Given the description of an element on the screen output the (x, y) to click on. 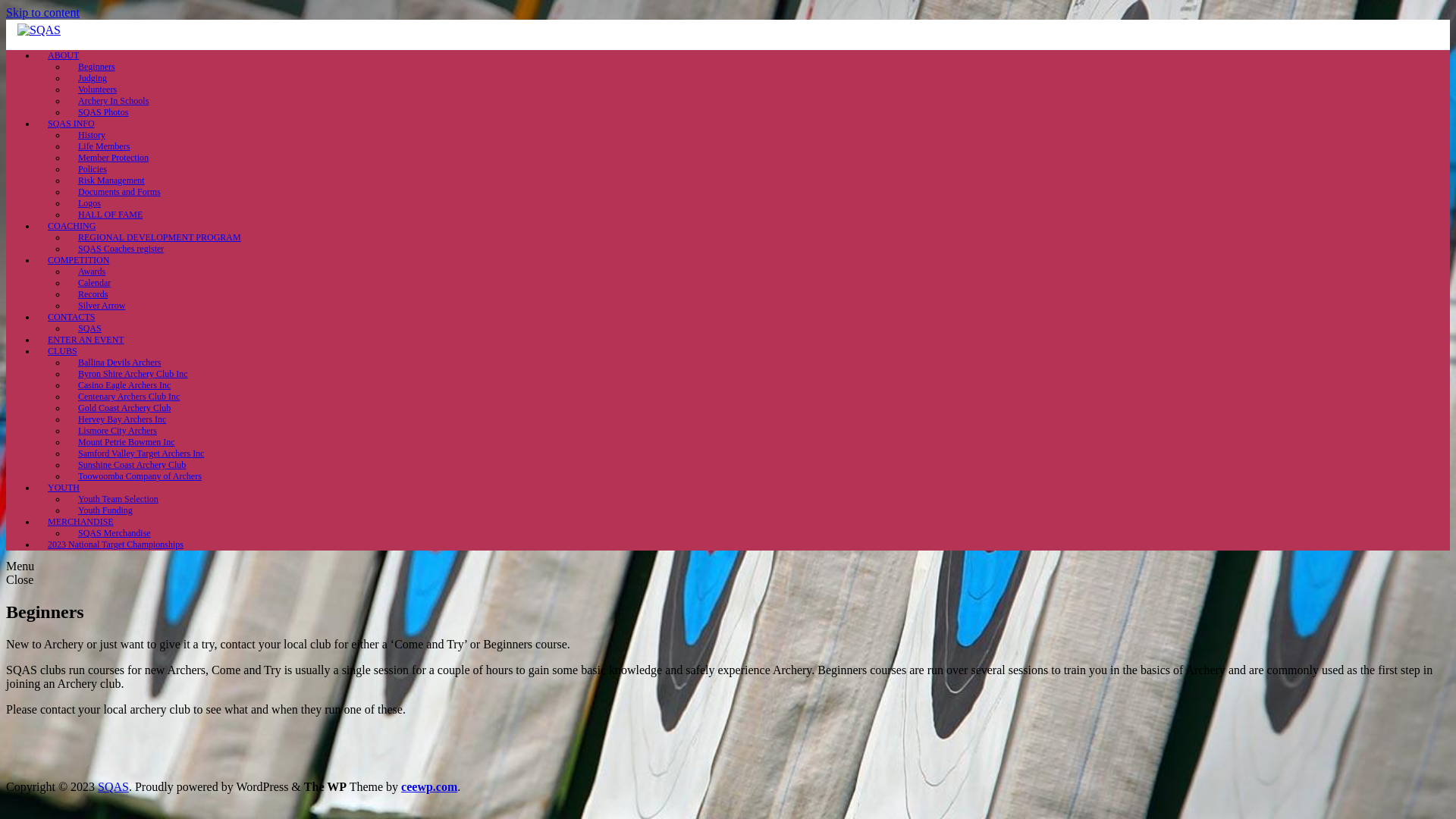
SQAS Coaches register Element type: text (120, 248)
2023 National Target Championships Element type: text (115, 544)
ENTER AN EVENT Element type: text (85, 339)
History Element type: text (91, 134)
SQAS Element type: text (112, 786)
Calendar Element type: text (94, 282)
Documents and Forms Element type: text (119, 191)
CONTACTS Element type: text (71, 316)
Volunteers Element type: text (97, 89)
Youth Team Selection Element type: text (117, 498)
Casino Eagle Archers Inc Element type: text (124, 384)
Samford Valley Target Archers Inc Element type: text (140, 453)
Archery In Schools Element type: text (113, 100)
YOUTH Element type: text (63, 487)
Policies Element type: text (92, 168)
REGIONAL DEVELOPMENT PROGRAM Element type: text (159, 237)
Silver Arrow Element type: text (101, 305)
Byron Shire Archery Club Inc Element type: text (132, 373)
SQAS Element type: text (89, 328)
SQAS Merchandise Element type: text (114, 532)
Skip to content Element type: text (42, 12)
Ballina Devils Archers Element type: text (119, 362)
Judging Element type: text (92, 77)
Lismore City Archers Element type: text (117, 430)
Life Members Element type: text (103, 146)
MERCHANDISE Element type: text (80, 521)
SQAS INFO Element type: text (71, 123)
Centenary Archers Club Inc Element type: text (128, 396)
ceewp.com Element type: text (429, 786)
Youth Funding Element type: text (105, 510)
Awards Element type: text (91, 271)
Member Protection Element type: text (113, 157)
Hervey Bay Archers Inc Element type: text (121, 419)
ABOUT Element type: text (63, 55)
Mount Petrie Bowmen Inc Element type: text (126, 441)
Gold Coast Archery Club Element type: text (124, 407)
Toowoomba Company of Archers Element type: text (139, 475)
COACHING Element type: text (71, 225)
SQAS Photos Element type: text (102, 111)
CLUBS Element type: text (62, 350)
Beginners Element type: text (96, 66)
Records Element type: text (92, 293)
HALL OF FAME Element type: text (109, 214)
SQAS Element type: hover (38, 29)
Risk Management Element type: text (111, 180)
Sunshine Coast Archery Club Element type: text (131, 464)
COMPETITION Element type: text (78, 259)
Logos Element type: text (89, 202)
